Given the description of an element on the screen output the (x, y) to click on. 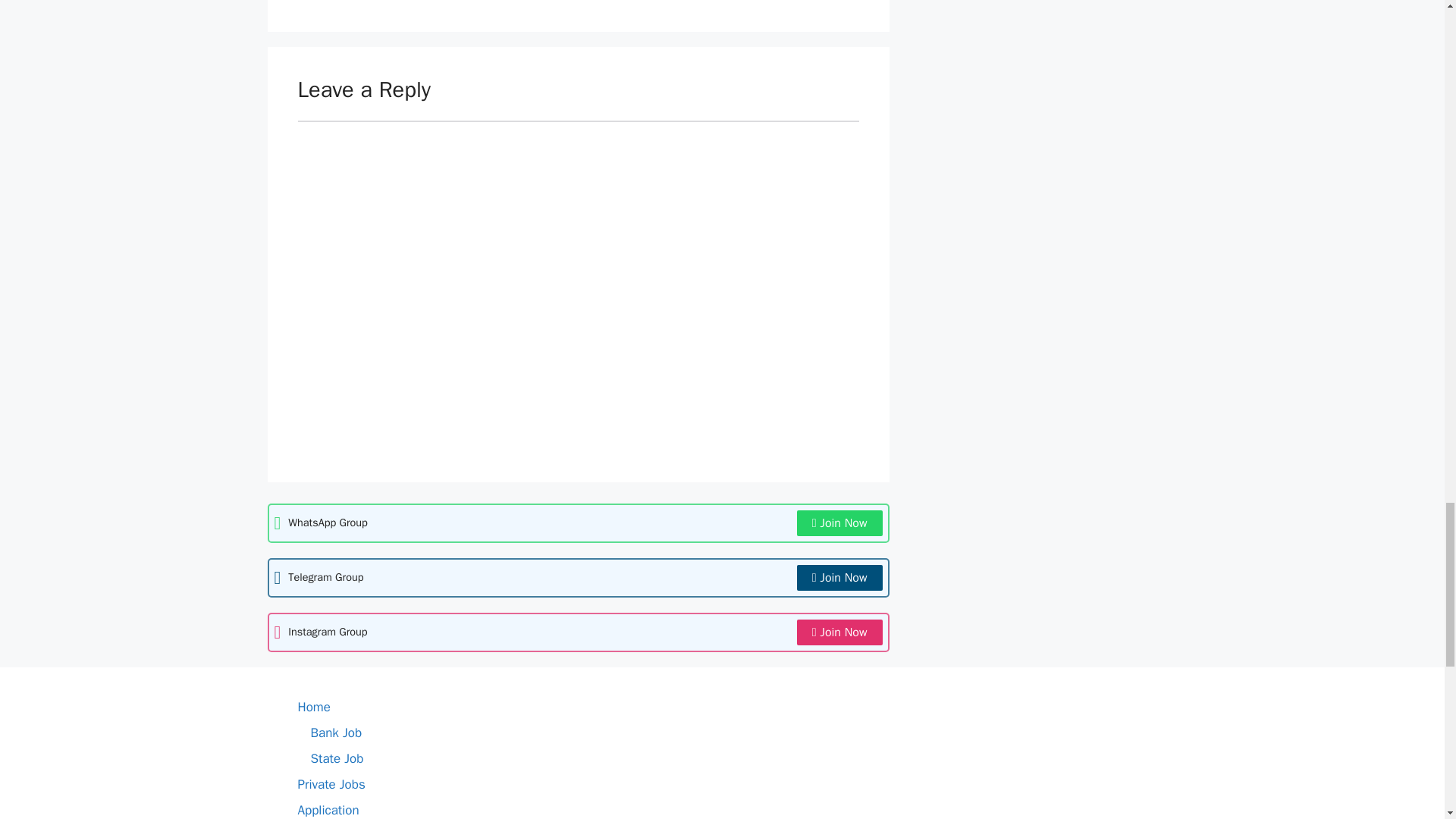
Private Jobs (331, 784)
State Job (337, 758)
Application (327, 810)
Home (313, 706)
Bank Job (336, 732)
Join Now (839, 632)
Join Now (839, 523)
Join Now (839, 577)
